Given the description of an element on the screen output the (x, y) to click on. 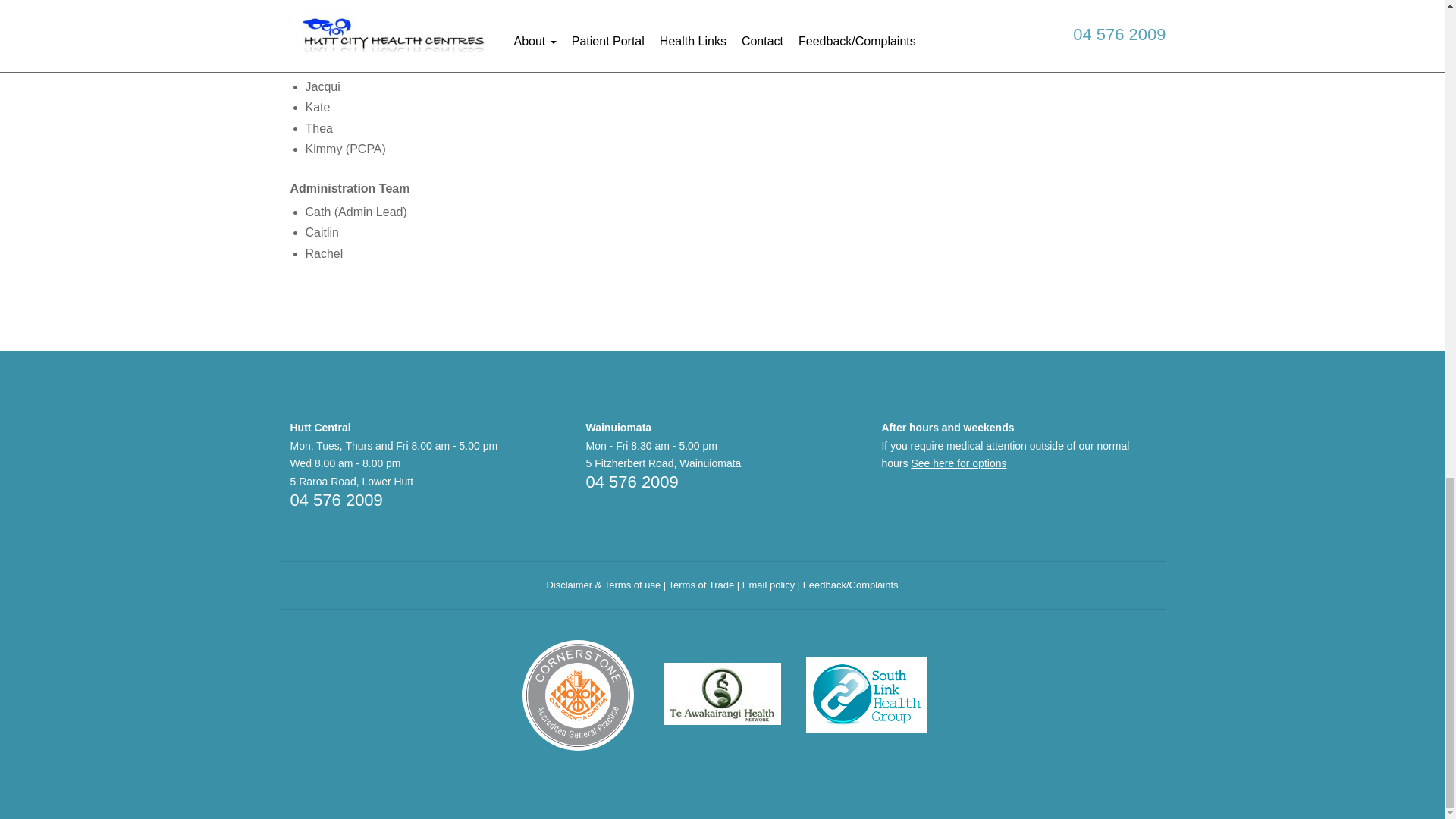
Terms of Trade (701, 584)
See here for options (958, 463)
Email policy (768, 584)
